Given the description of an element on the screen output the (x, y) to click on. 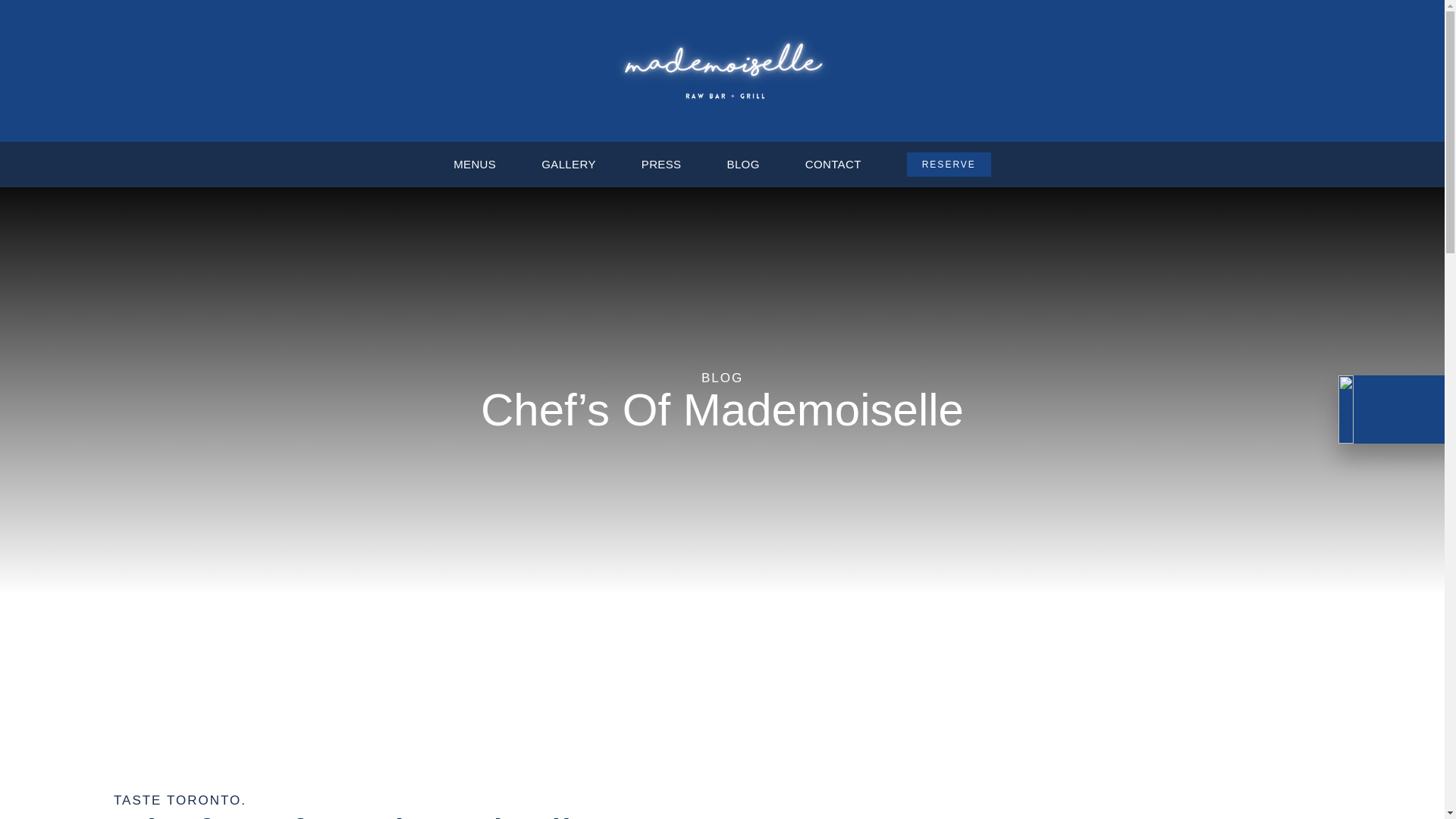
MENUS (474, 163)
CONTACT (833, 163)
GALLERY (568, 163)
RESERVE (949, 163)
